Given the description of an element on the screen output the (x, y) to click on. 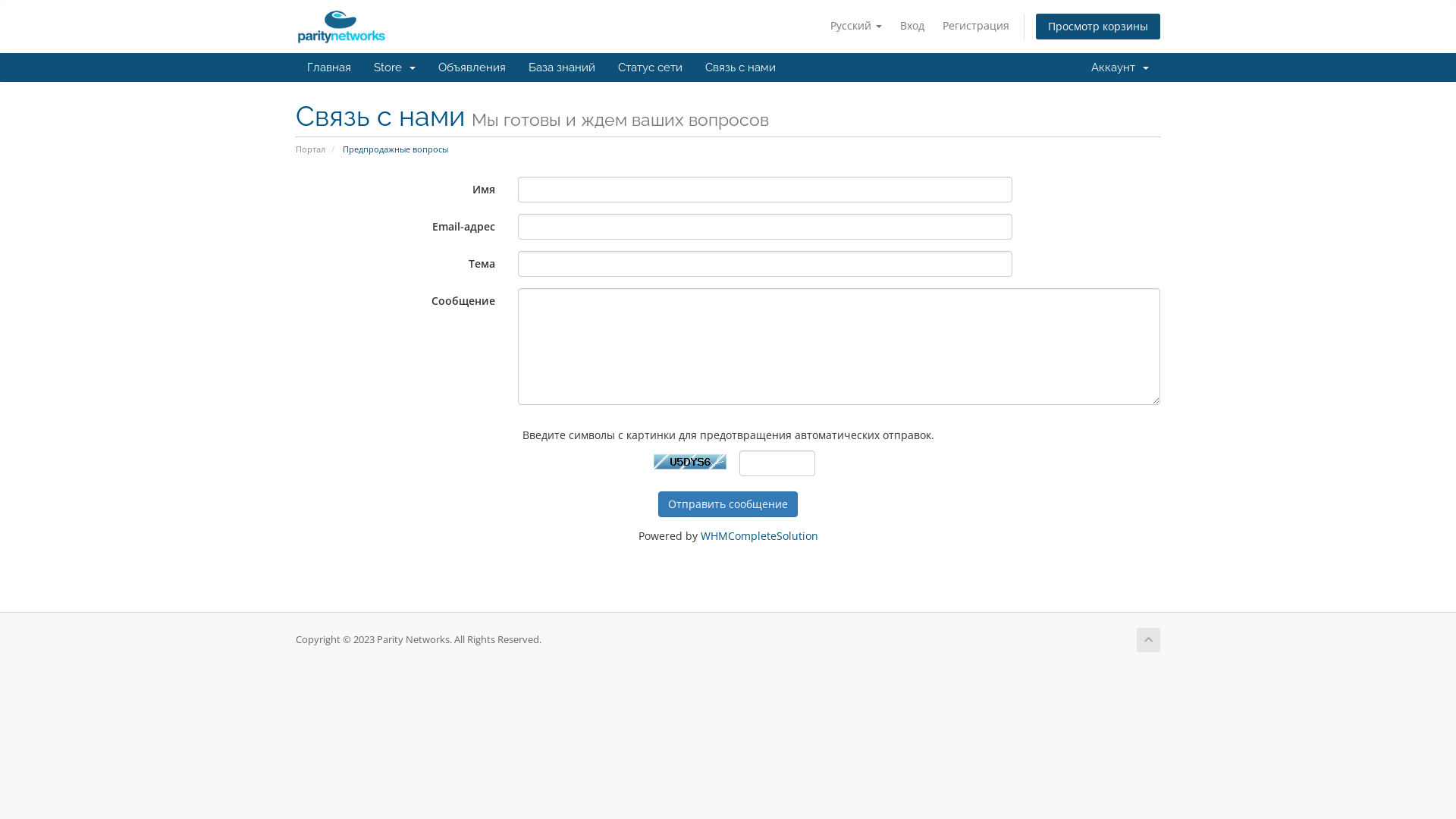
WHMCompleteSolution Element type: text (759, 535)
Store   Element type: text (394, 67)
